Given the description of an element on the screen output the (x, y) to click on. 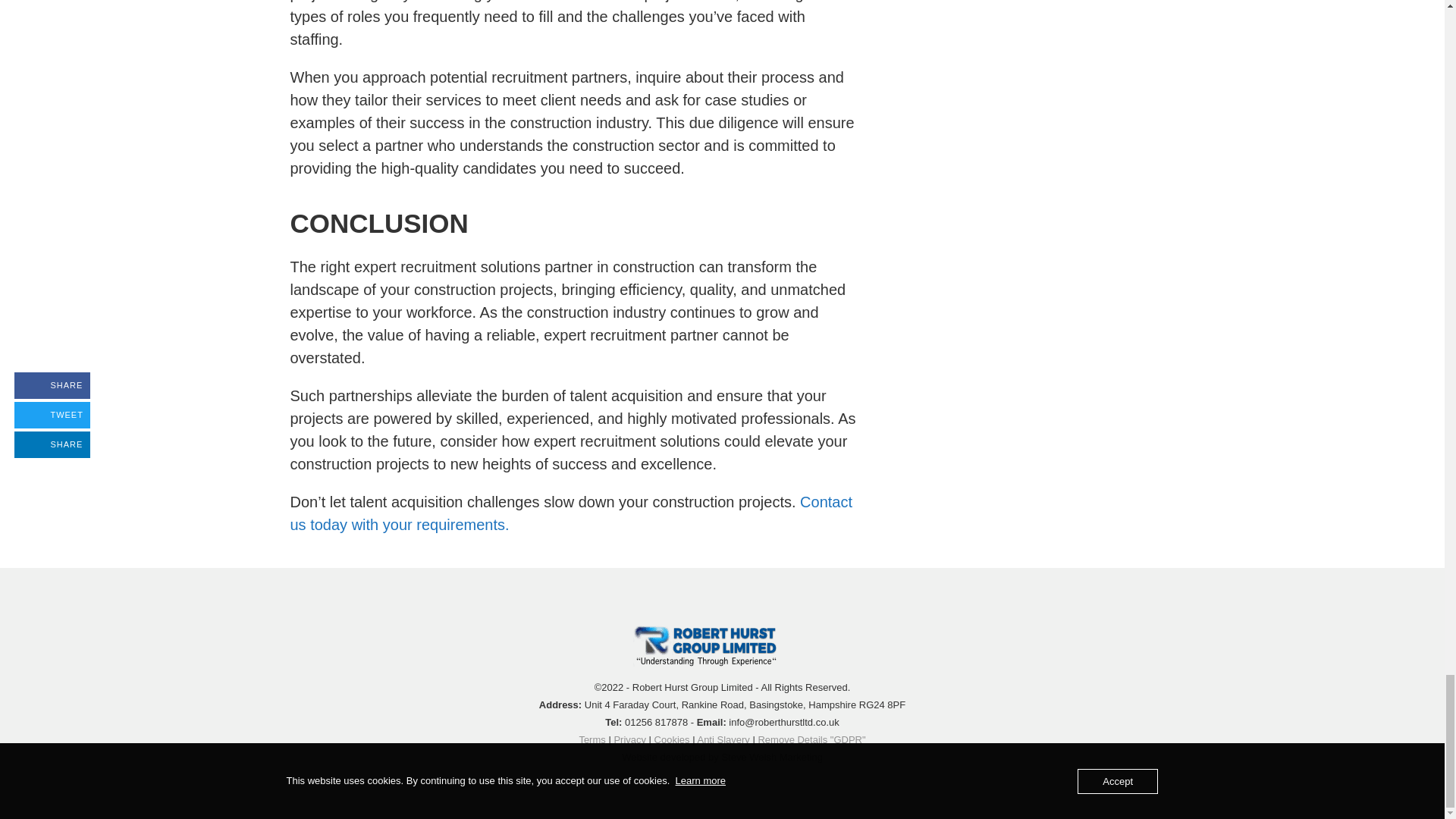
Robert Hurst Group Ltd. (716, 645)
Contact us today with your requirements. (570, 513)
